Given the description of an element on the screen output the (x, y) to click on. 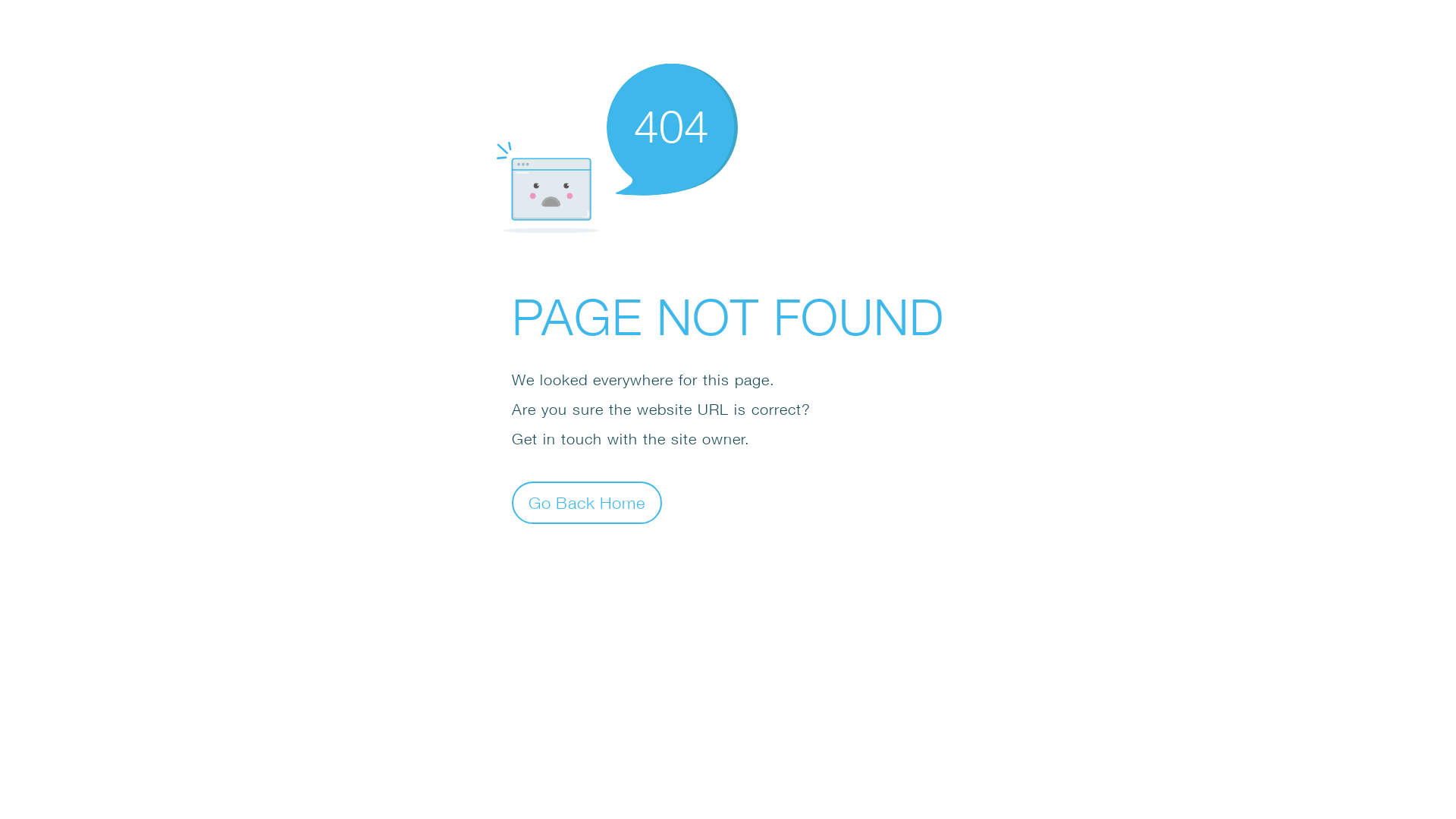
Go Back Home Element type: text (586, 502)
